Given the description of an element on the screen output the (x, y) to click on. 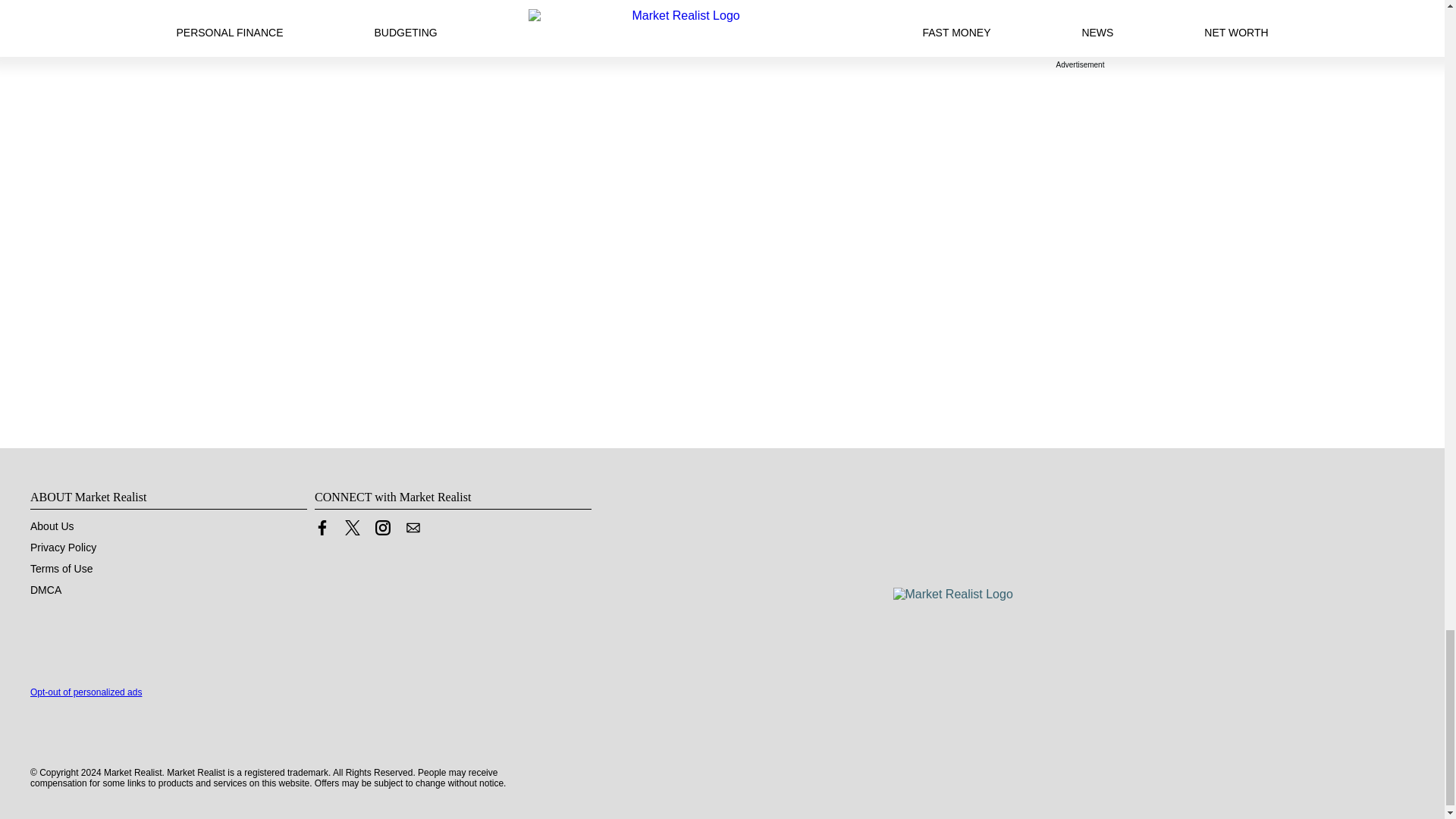
Link to Facebook (322, 527)
DMCA (45, 589)
Link to X (352, 527)
Privacy Policy (63, 547)
Contact us by Email (413, 531)
Link to Facebook (322, 531)
Privacy Policy (63, 547)
Opt-out of personalized ads (85, 692)
Terms of Use (61, 568)
Contact us by Email (413, 527)
